Given the description of an element on the screen output the (x, y) to click on. 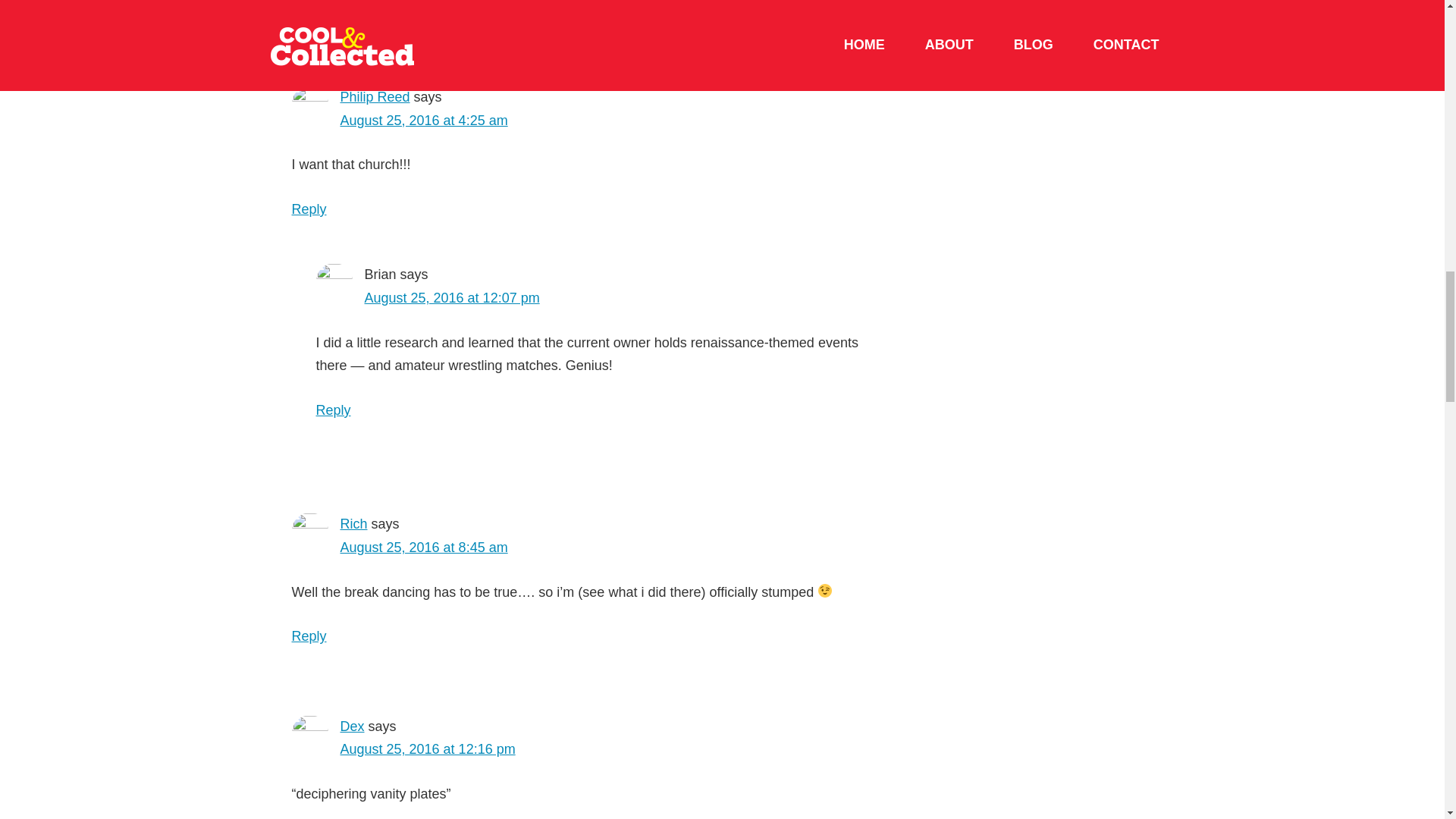
Reply (332, 409)
Reply (308, 635)
Dex (351, 726)
Rich (352, 523)
August 25, 2016 at 4:25 am (422, 120)
August 25, 2016 at 12:07 pm (451, 297)
August 25, 2016 at 8:45 am (422, 547)
Philip Reed (374, 96)
August 25, 2016 at 12:16 pm (427, 749)
Reply (308, 209)
